Given the description of an element on the screen output the (x, y) to click on. 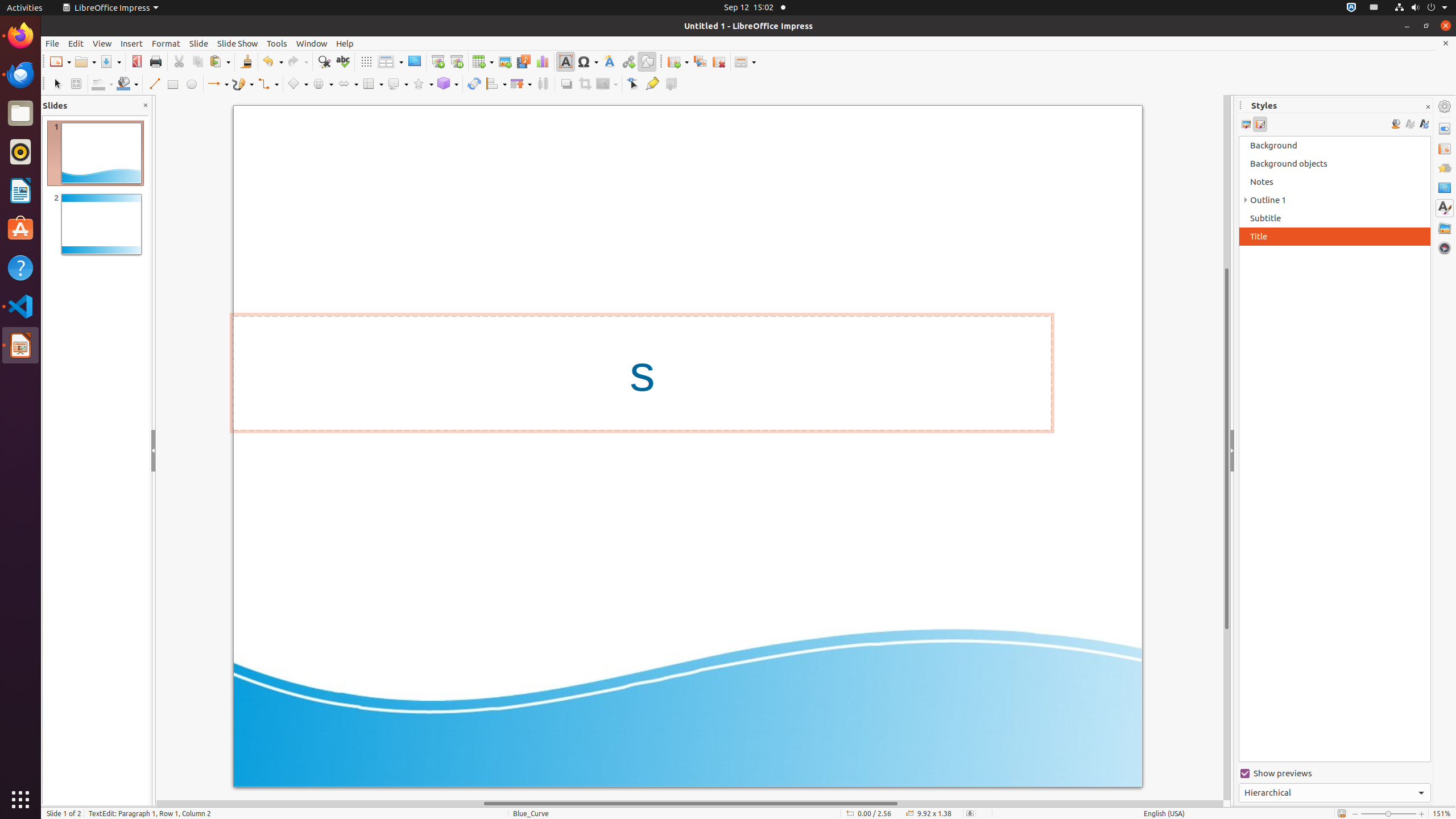
Tools Element type: menu (276, 43)
New Style from Selection Element type: push-button (1409, 123)
Glue Points Element type: push-button (651, 83)
Line Element type: push-button (153, 83)
Master Slides Element type: radio-button (1444, 188)
